Given the description of an element on the screen output the (x, y) to click on. 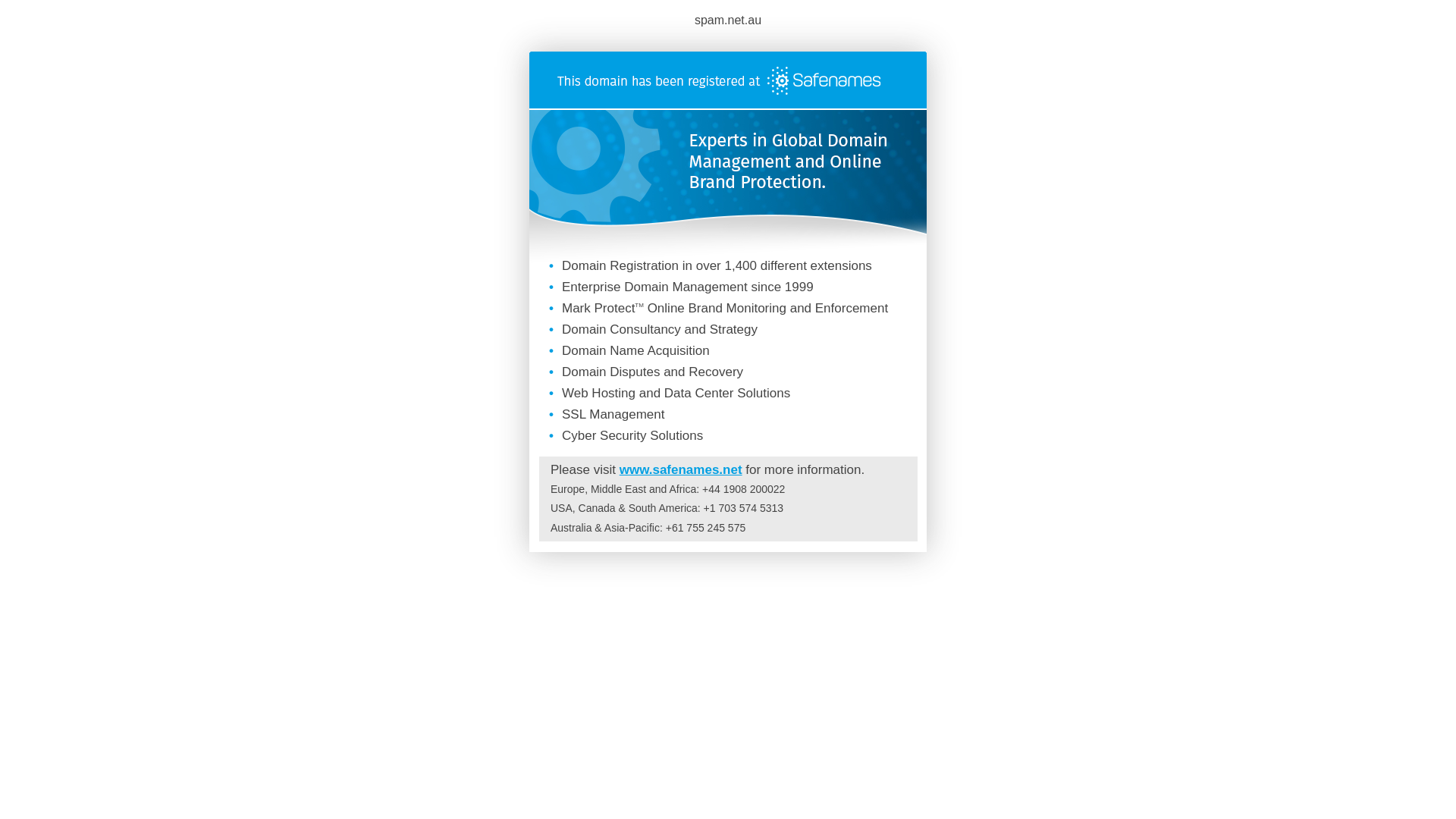
www.safenames.net Element type: text (680, 469)
